Given the description of an element on the screen output the (x, y) to click on. 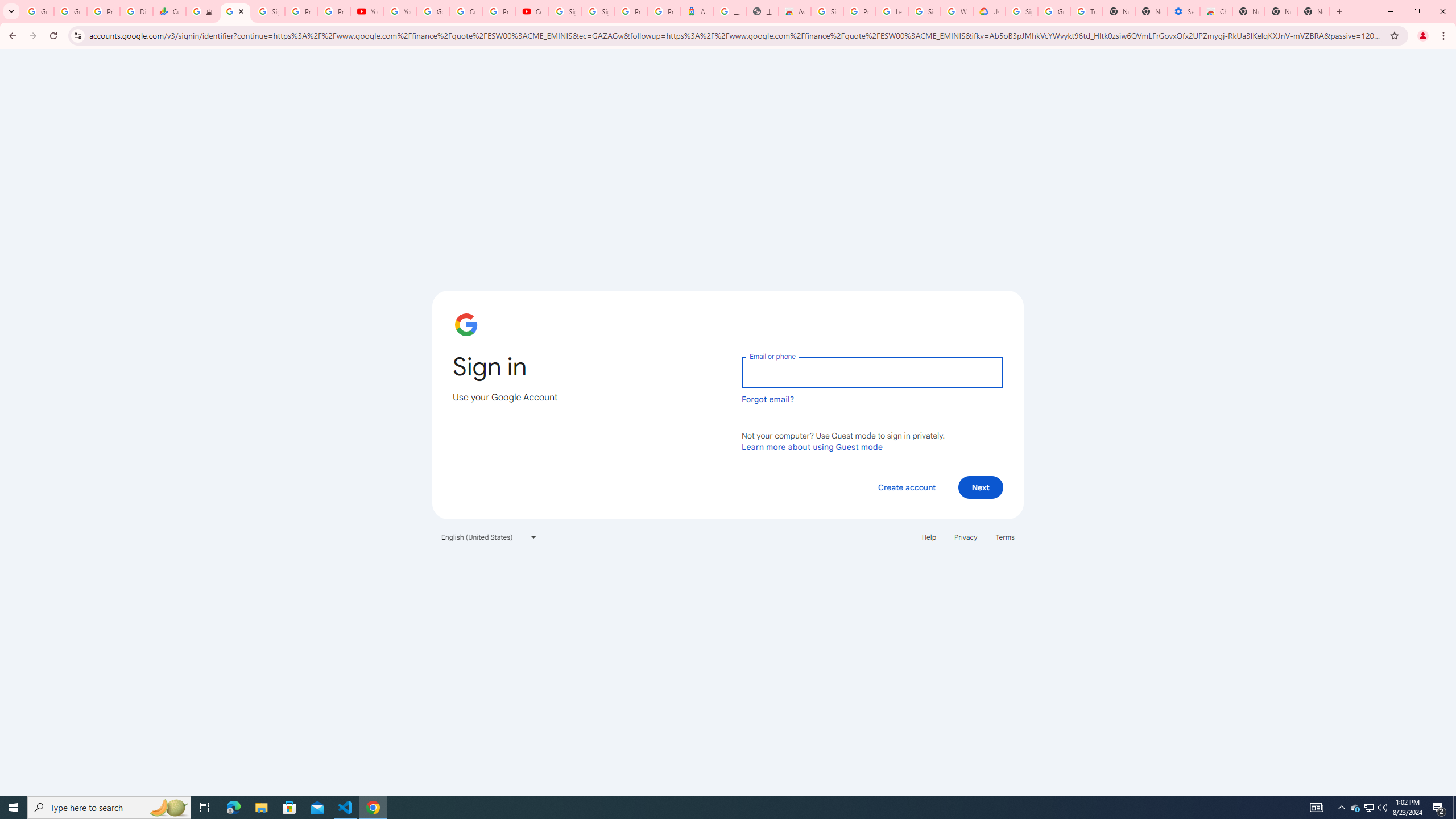
Google Account Help (1053, 11)
New Tab (1313, 11)
